Given the description of an element on the screen output the (x, y) to click on. 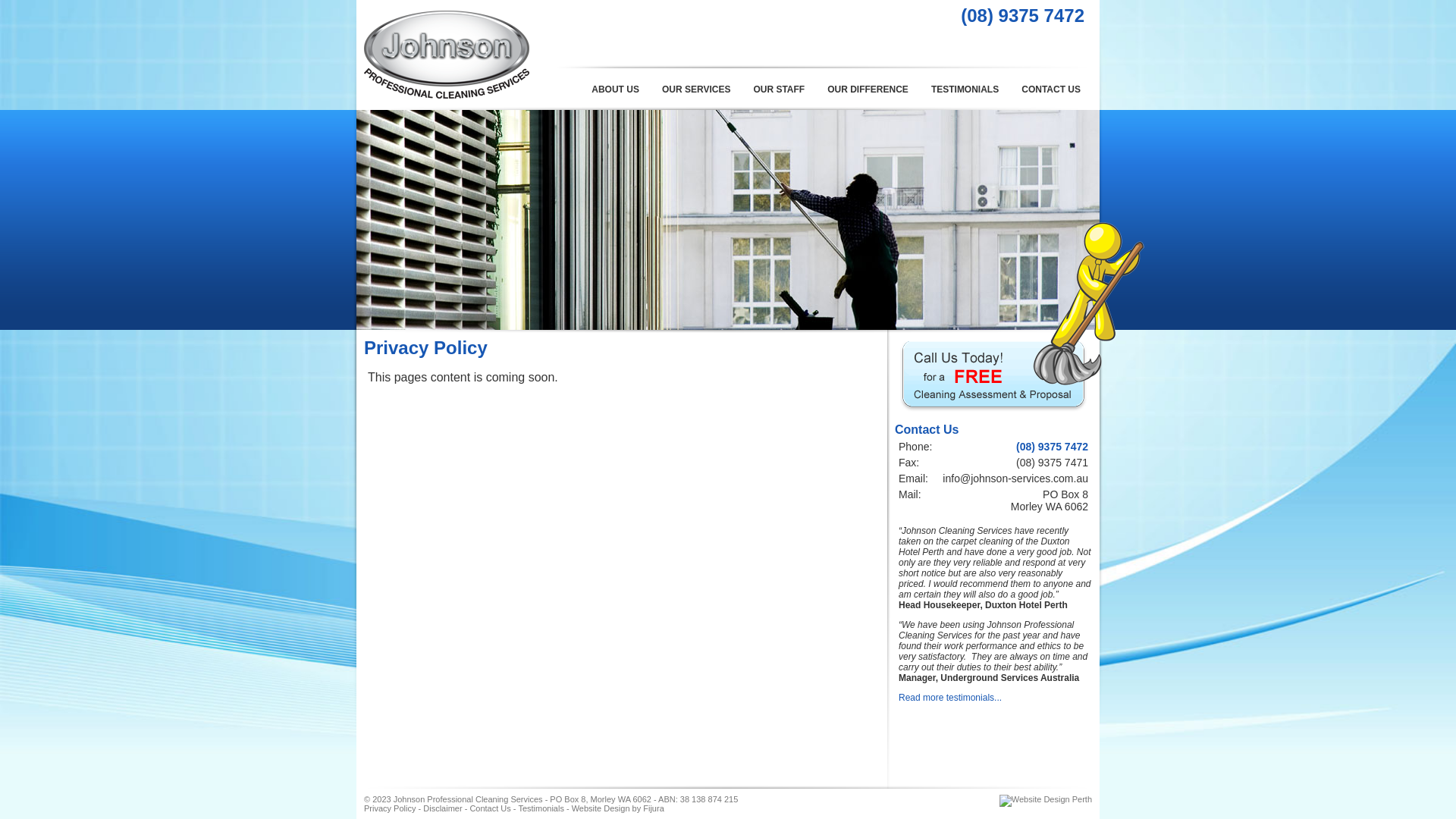
ABOUT US Element type: text (615, 89)
Johnson Professional Cleaning Services Element type: hover (446, 95)
Website Design by Fijura Element type: text (617, 807)
OUR DIFFERENCE Element type: text (867, 89)
TESTIMONIALS Element type: text (964, 89)
CONTACT US Element type: text (1051, 89)
Website Design Perth Element type: hover (1045, 798)
OUR SERVICES Element type: text (695, 89)
Contact Us Element type: text (489, 807)
Disclaimer Element type: text (442, 807)
Read more testimonials... Element type: text (949, 697)
OUR STAFF Element type: text (778, 89)
Testimonials Element type: text (540, 807)
Privacy Policy Element type: text (389, 807)
